Given the description of an element on the screen output the (x, y) to click on. 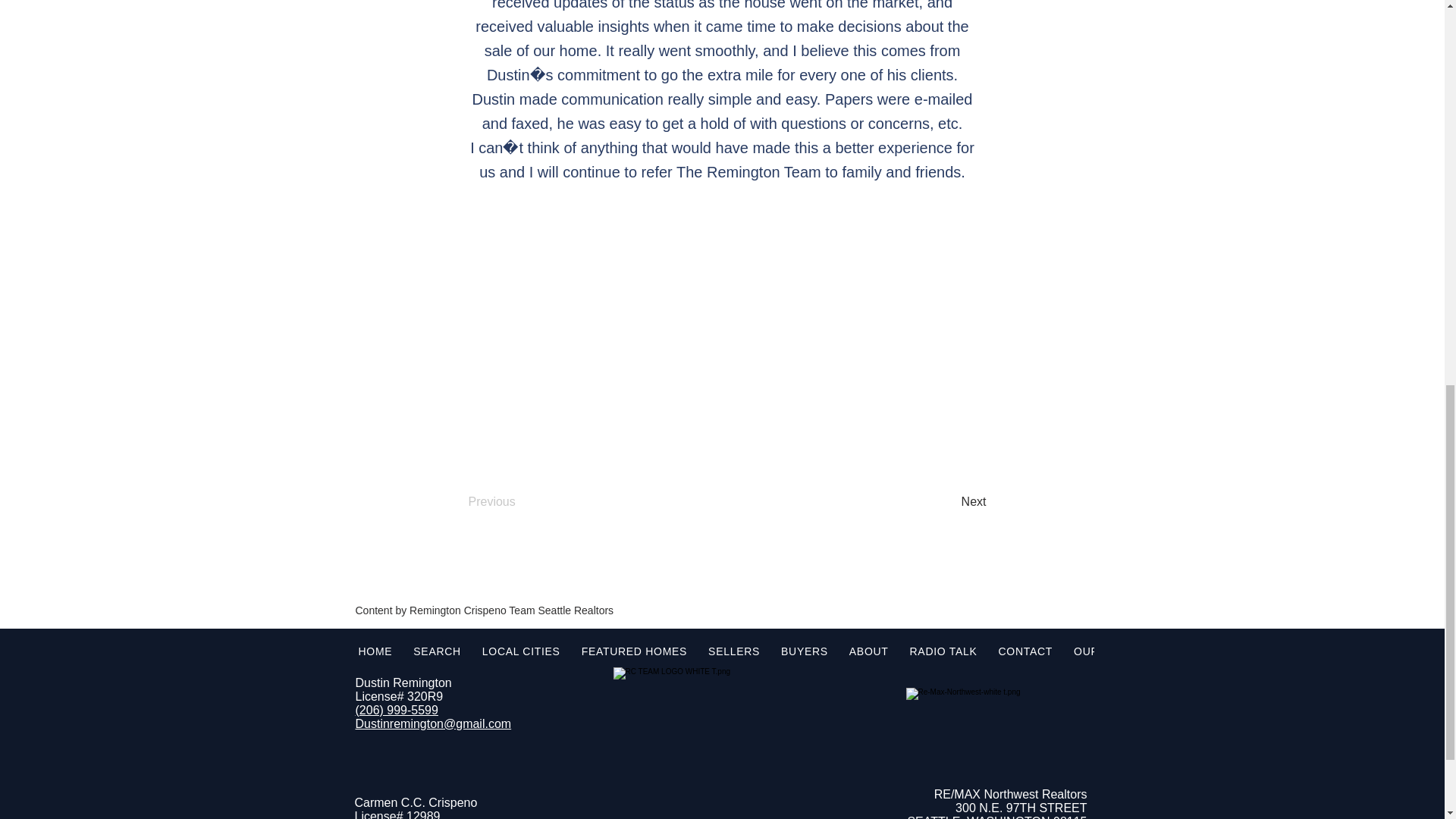
HOME (374, 651)
Previous (518, 501)
Next (947, 501)
SEARCH (437, 651)
